Given the description of an element on the screen output the (x, y) to click on. 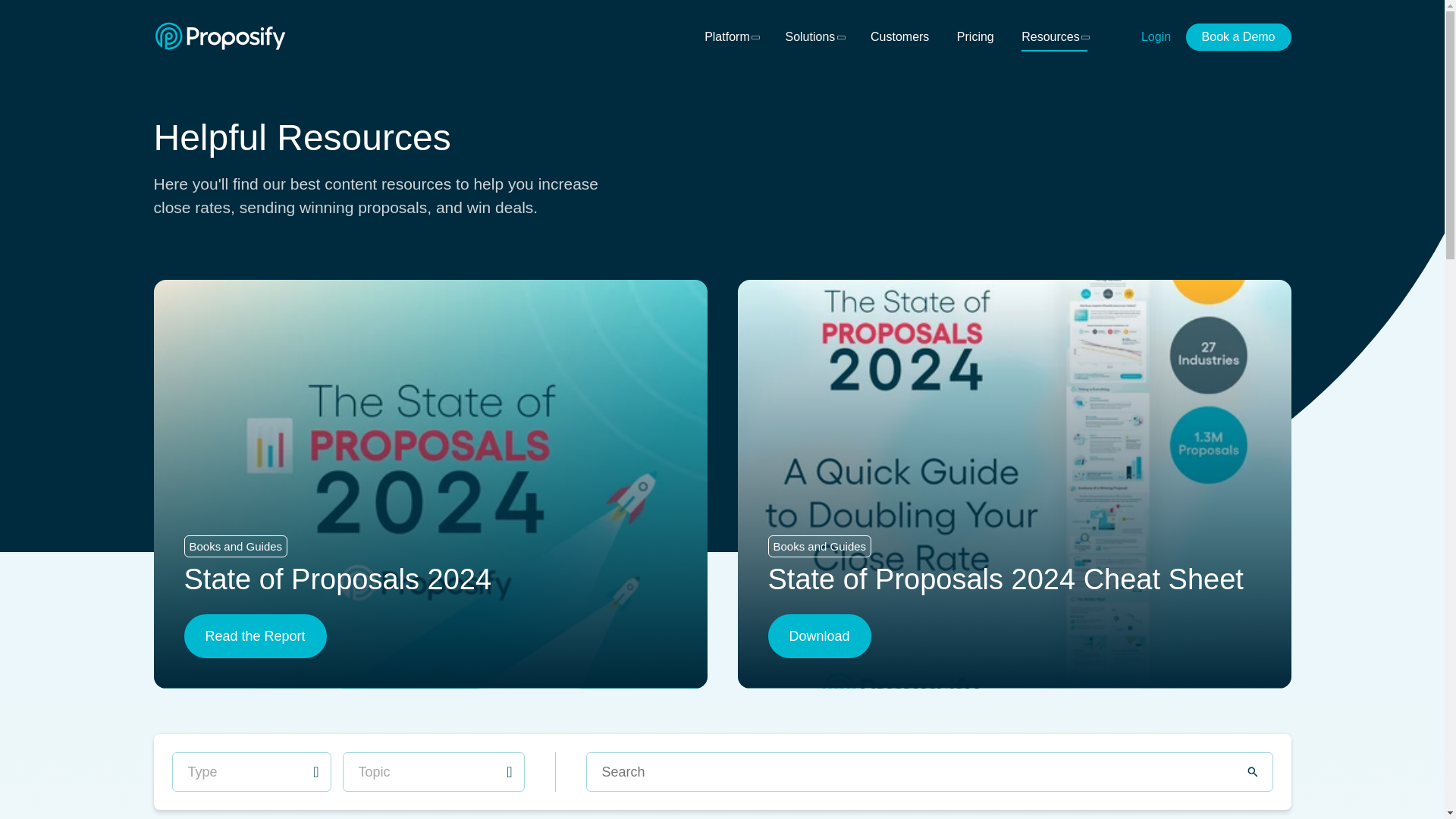
Resources (1054, 36)
Solutions (813, 36)
Pricing (975, 36)
Customers (899, 36)
Platform (730, 36)
Book a Demo (1238, 36)
Login (1155, 36)
